Given the description of an element on the screen output the (x, y) to click on. 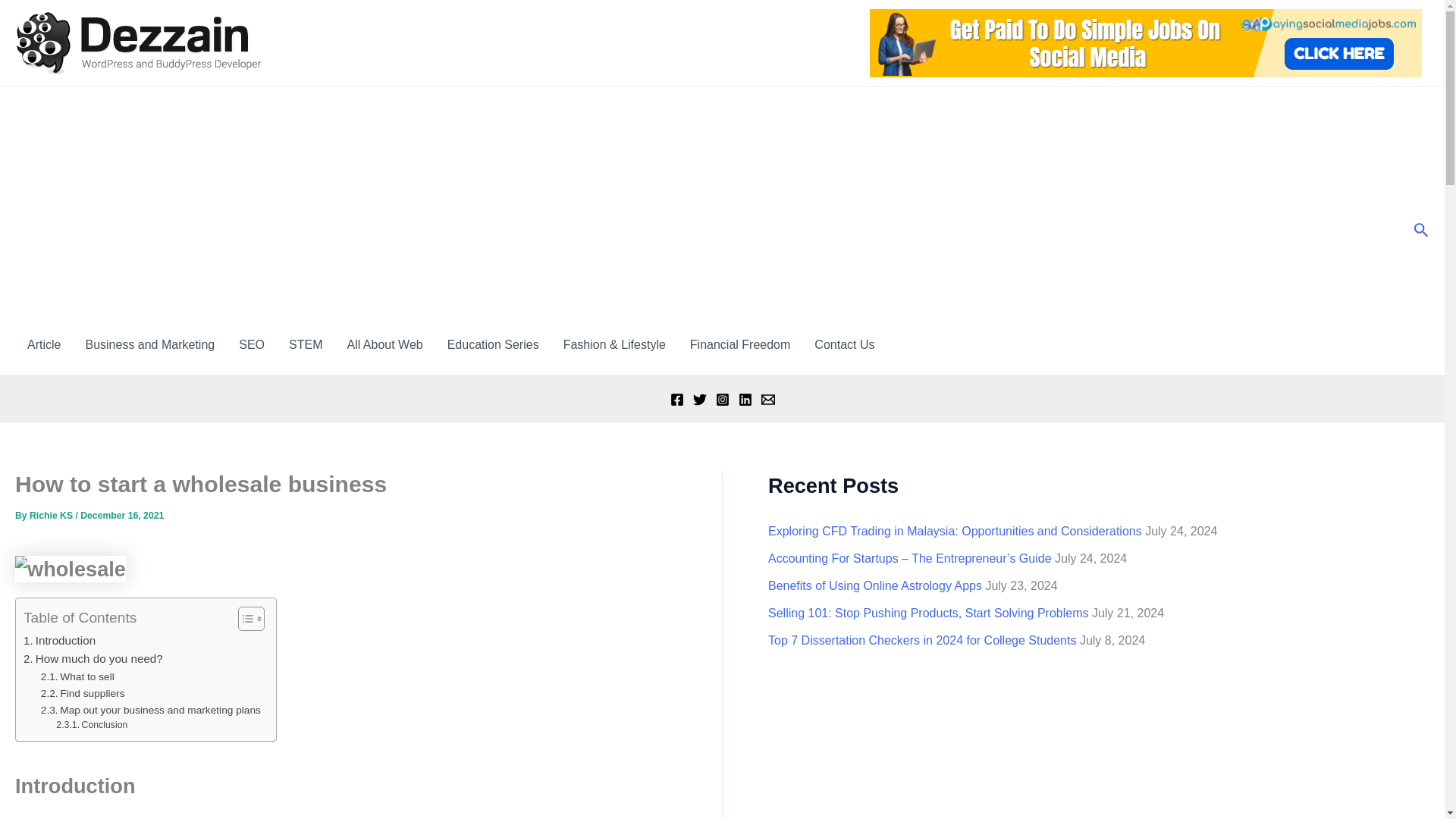
Introduction (59, 640)
STEM (305, 344)
How much do you need? (93, 659)
any inquiries? (844, 344)
Financial Freedom (740, 344)
What to sell (77, 677)
Article (43, 344)
What to sell (77, 677)
Richie KS (52, 515)
Map out your business and marketing plans (150, 710)
Conclusion (92, 725)
Introduction (59, 640)
All About Web (383, 344)
How much do you need? (93, 659)
